Given the description of an element on the screen output the (x, y) to click on. 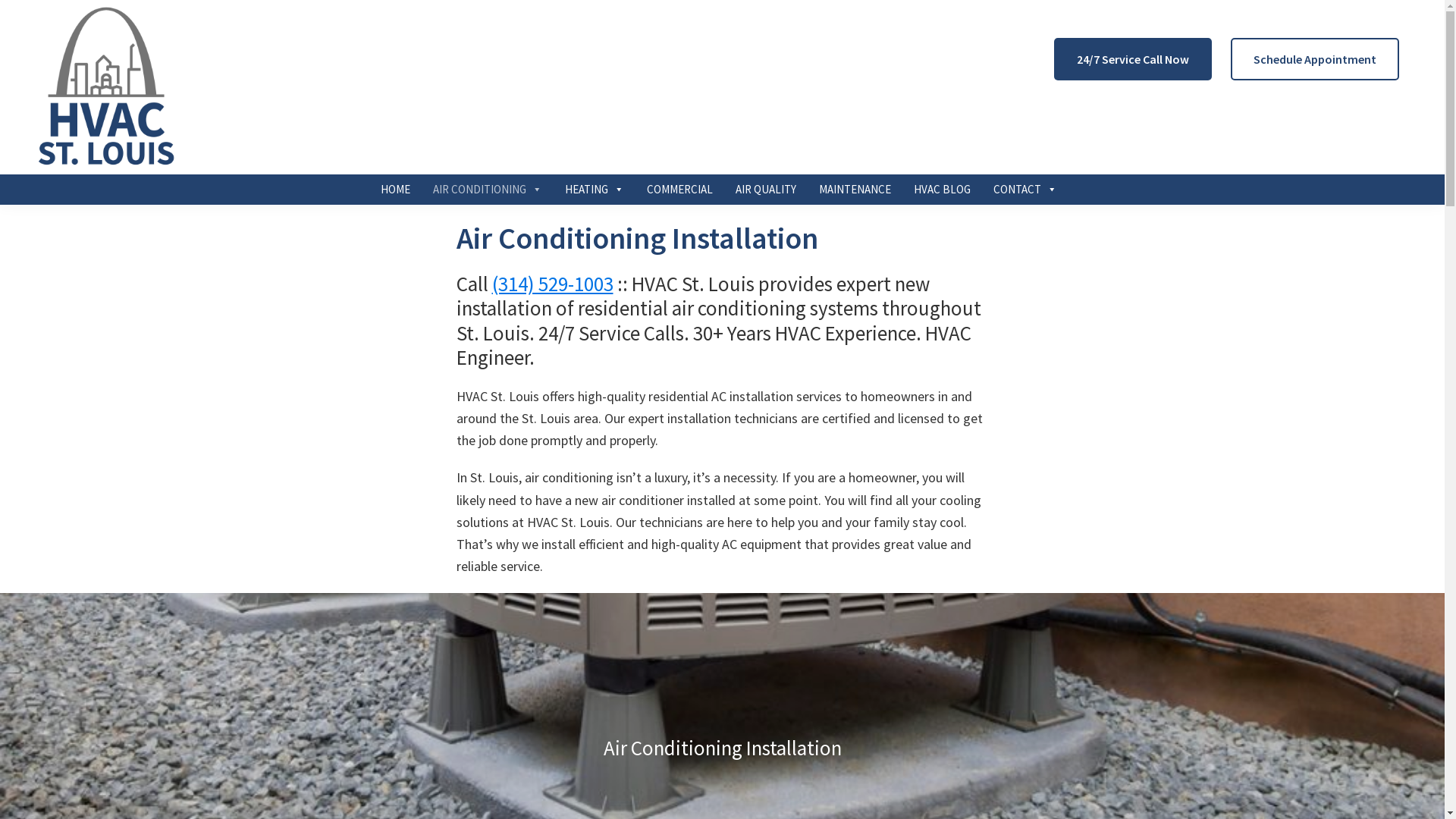
COMMERCIAL Element type: text (678, 189)
Skip to primary navigation Element type: text (0, 0)
CONTACT Element type: text (1024, 189)
(314) 529-1003 Element type: text (551, 283)
HOME Element type: text (395, 189)
AIR CONDITIONING Element type: text (486, 189)
Schedule Appointment Element type: text (1314, 58)
HEATING Element type: text (593, 189)
AIR QUALITY Element type: text (765, 189)
HVAC BLOG Element type: text (941, 189)
MAINTENANCE Element type: text (854, 189)
24/7 Service Call Now Element type: text (1132, 58)
